Given the description of an element on the screen output the (x, y) to click on. 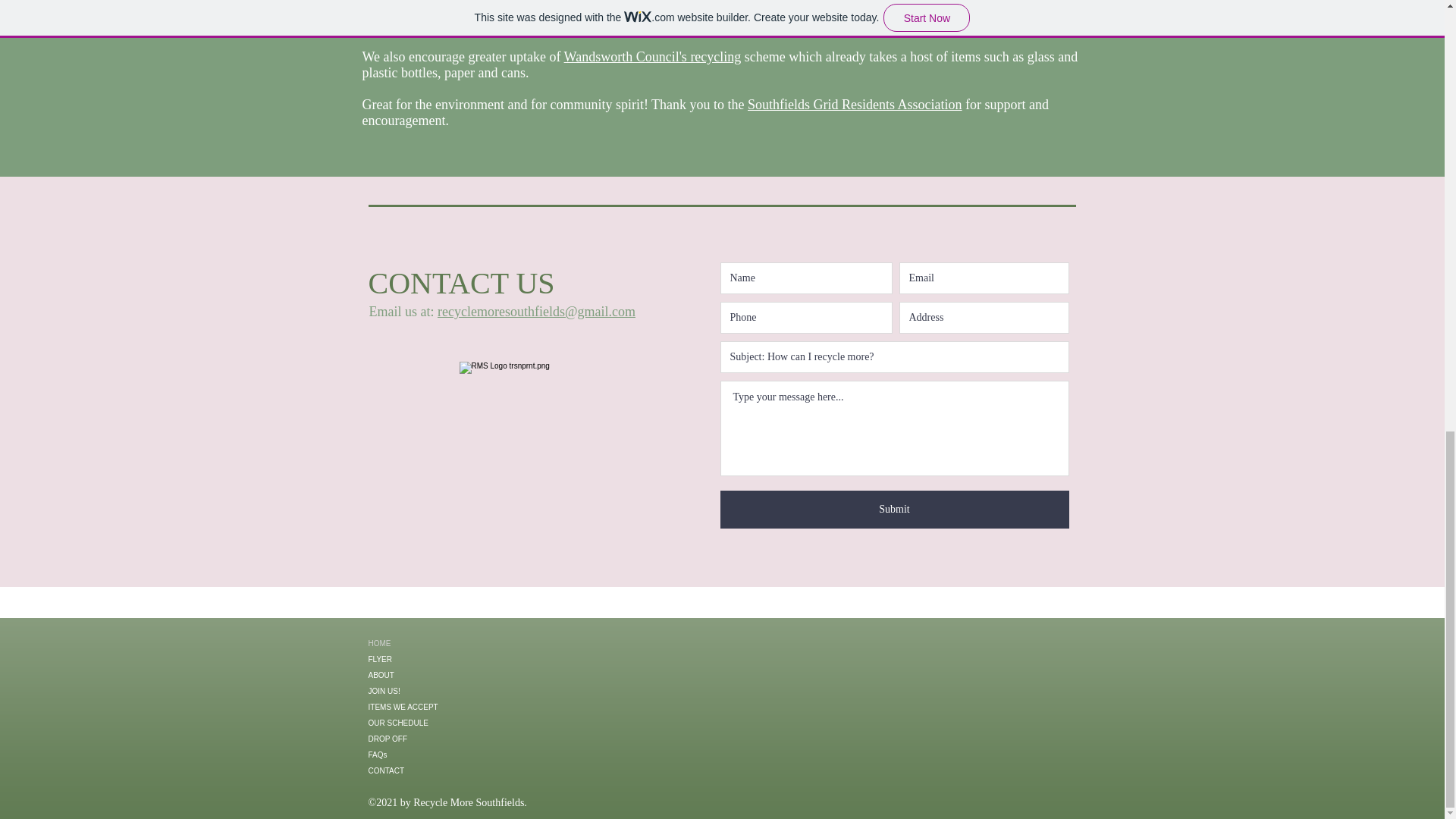
DROP OFF (427, 738)
Southfields Grid Residents Association (855, 104)
OUR SCHEDULE (427, 722)
ITEMS WE ACCEPT (427, 706)
FLYER (427, 659)
TerraCycle UK (541, 24)
CONTACT (427, 770)
JOIN US! (427, 691)
HOME (427, 643)
ABOUT (427, 675)
